Given the description of an element on the screen output the (x, y) to click on. 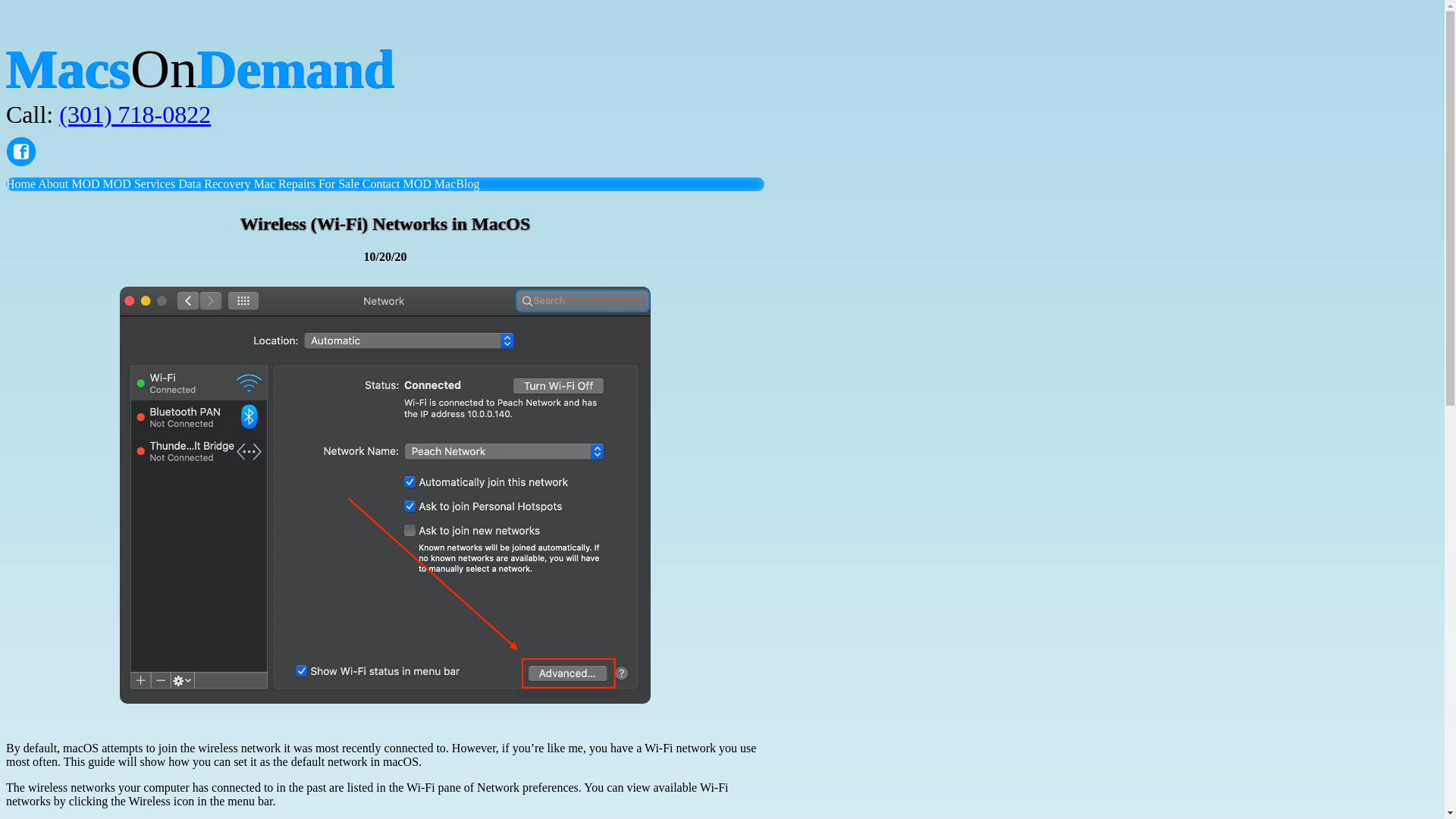
For Sale (338, 183)
About MOD (68, 183)
MOD Services (139, 183)
MacBlog (456, 183)
Mac Repairs (284, 183)
Home (19, 183)
Data Recovery (213, 183)
Contact MOD (396, 183)
